Given the description of an element on the screen output the (x, y) to click on. 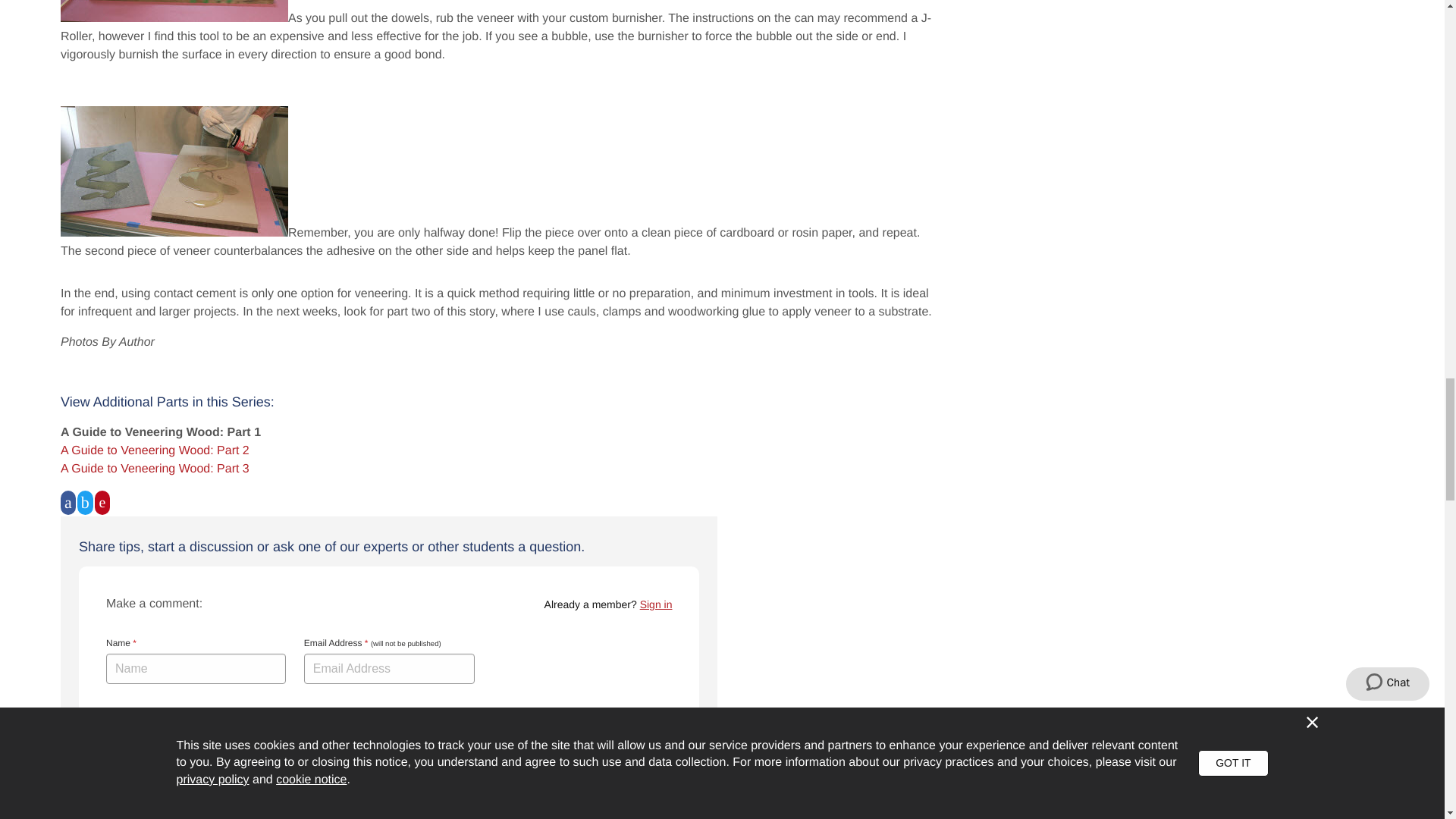
Sign in (656, 604)
A Guide to Veneering Wood: Part 2 (154, 450)
Submit (141, 816)
Submit (141, 816)
A Guide to Veneering Wood: Part 3 (154, 468)
